Given the description of an element on the screen output the (x, y) to click on. 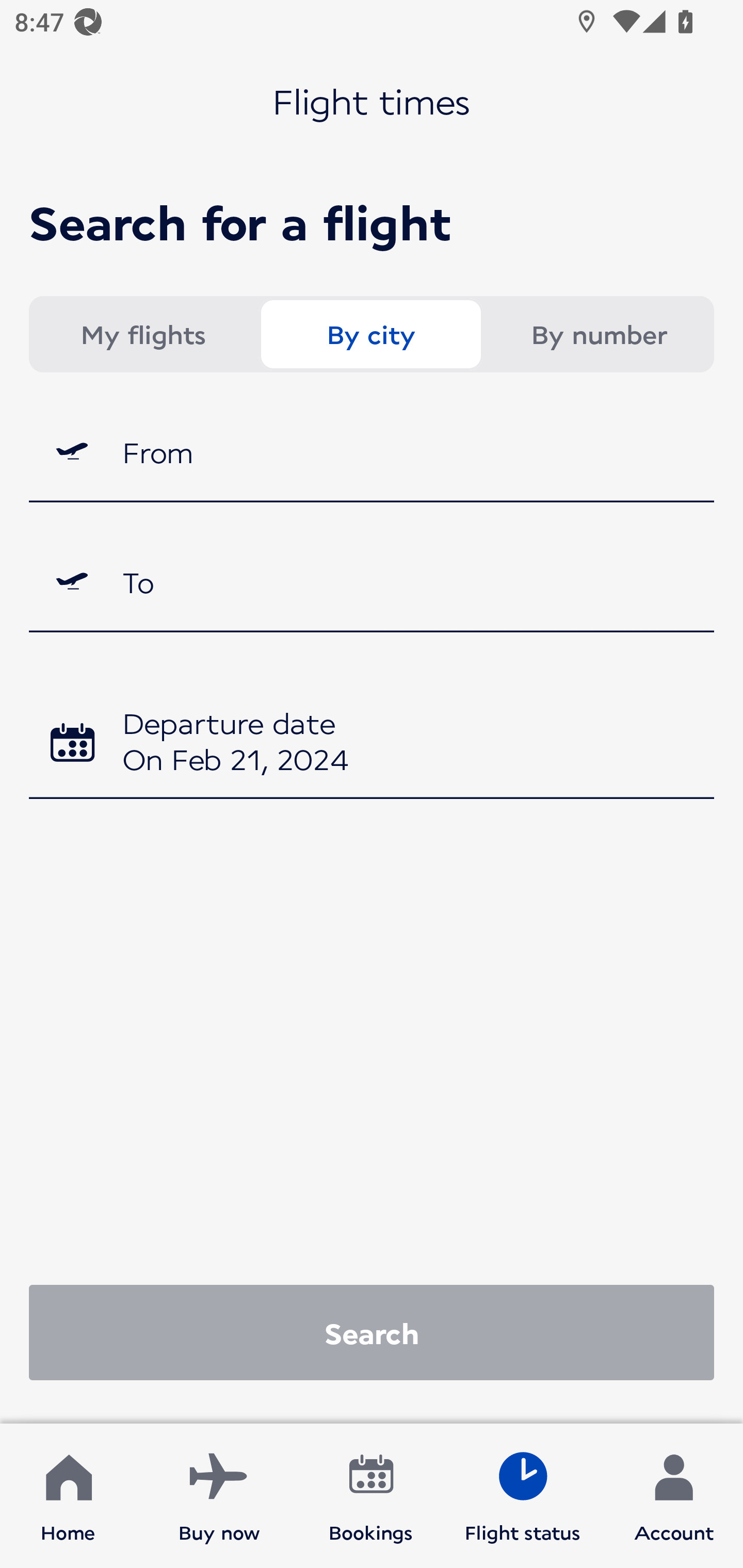
My flights (142, 334)
By city (370, 334)
By number (598, 334)
From (371, 451)
To (371, 581)
On Feb 21, 2024 Departure date (371, 744)
Search (371, 1331)
Home (68, 1495)
Buy now (219, 1495)
Bookings (370, 1495)
Account (674, 1495)
